Given the description of an element on the screen output the (x, y) to click on. 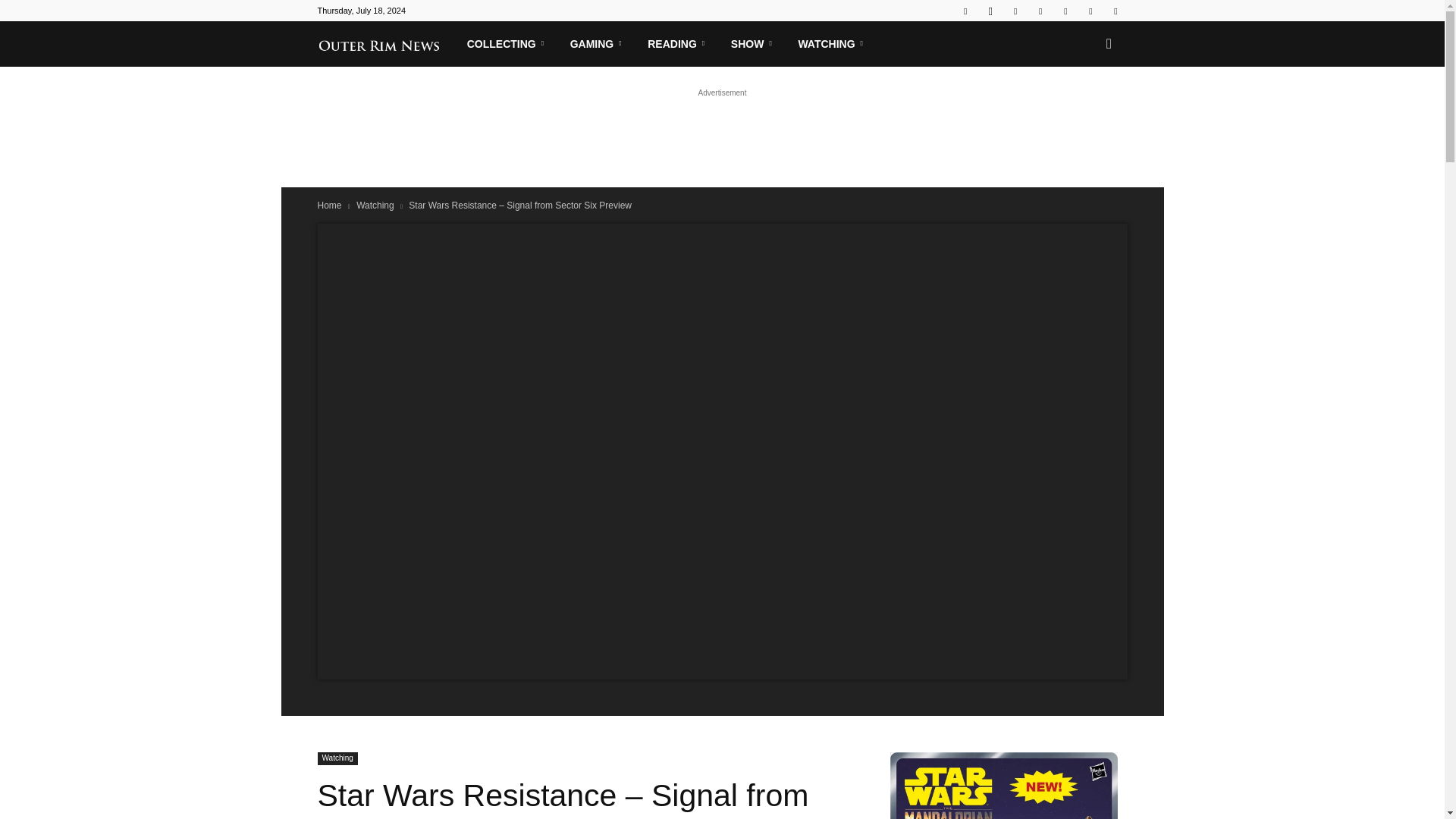
Facebook (964, 10)
Tumblr (1065, 10)
Pinterest (1040, 10)
Instagram (989, 10)
Mail (1015, 10)
Outer Rim News (386, 43)
COLLECTING (508, 43)
